Given the description of an element on the screen output the (x, y) to click on. 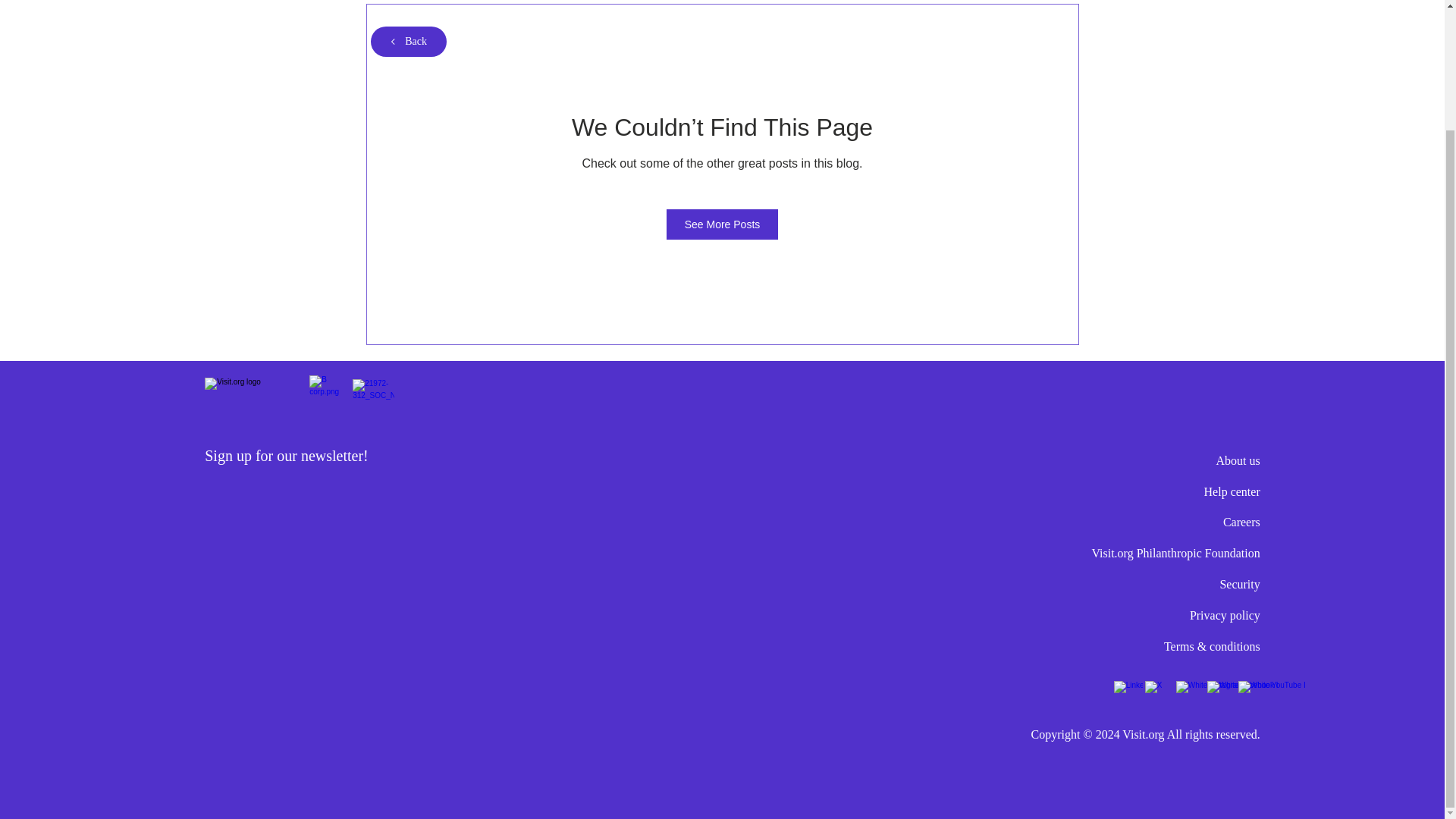
Help center (1232, 491)
About us (1237, 460)
Visit.org Philanthropic Foundation (1174, 553)
Back (407, 41)
Careers (1241, 521)
See More Posts (722, 224)
Security (1239, 584)
Privacy policy (1224, 615)
